Given the description of an element on the screen output the (x, y) to click on. 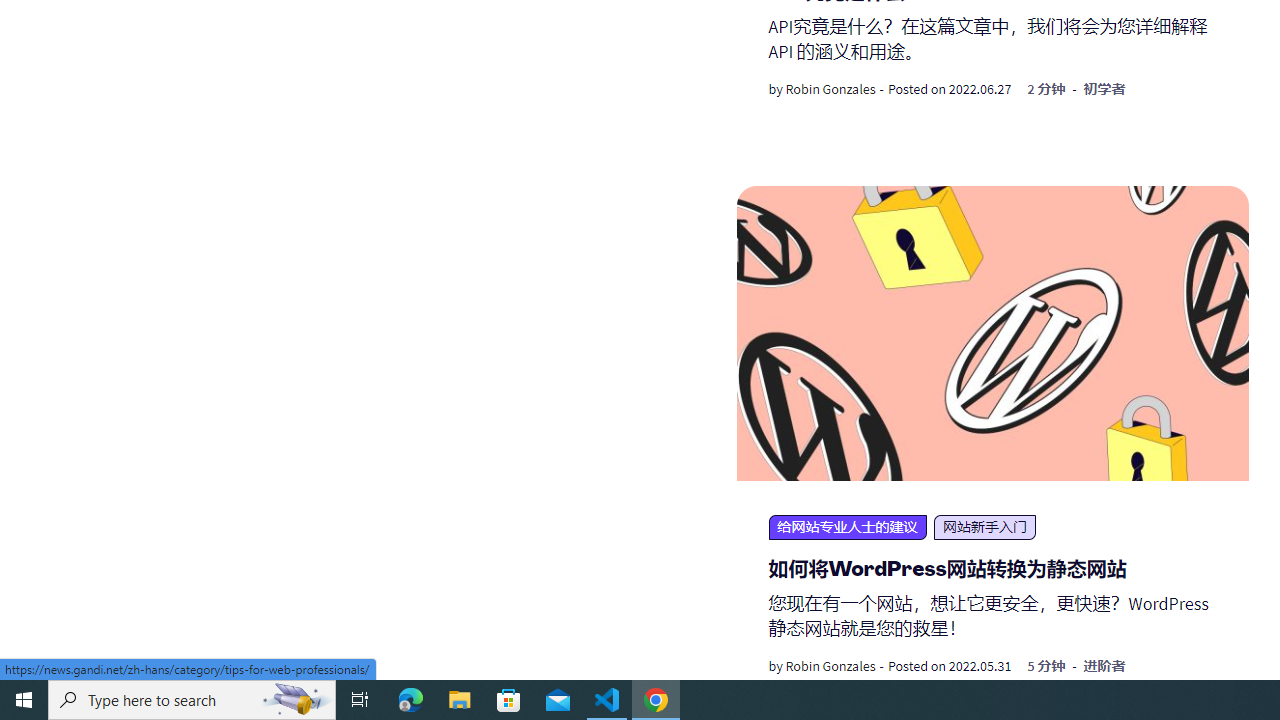
Robin Gonzales (829, 666)
